Given the description of an element on the screen output the (x, y) to click on. 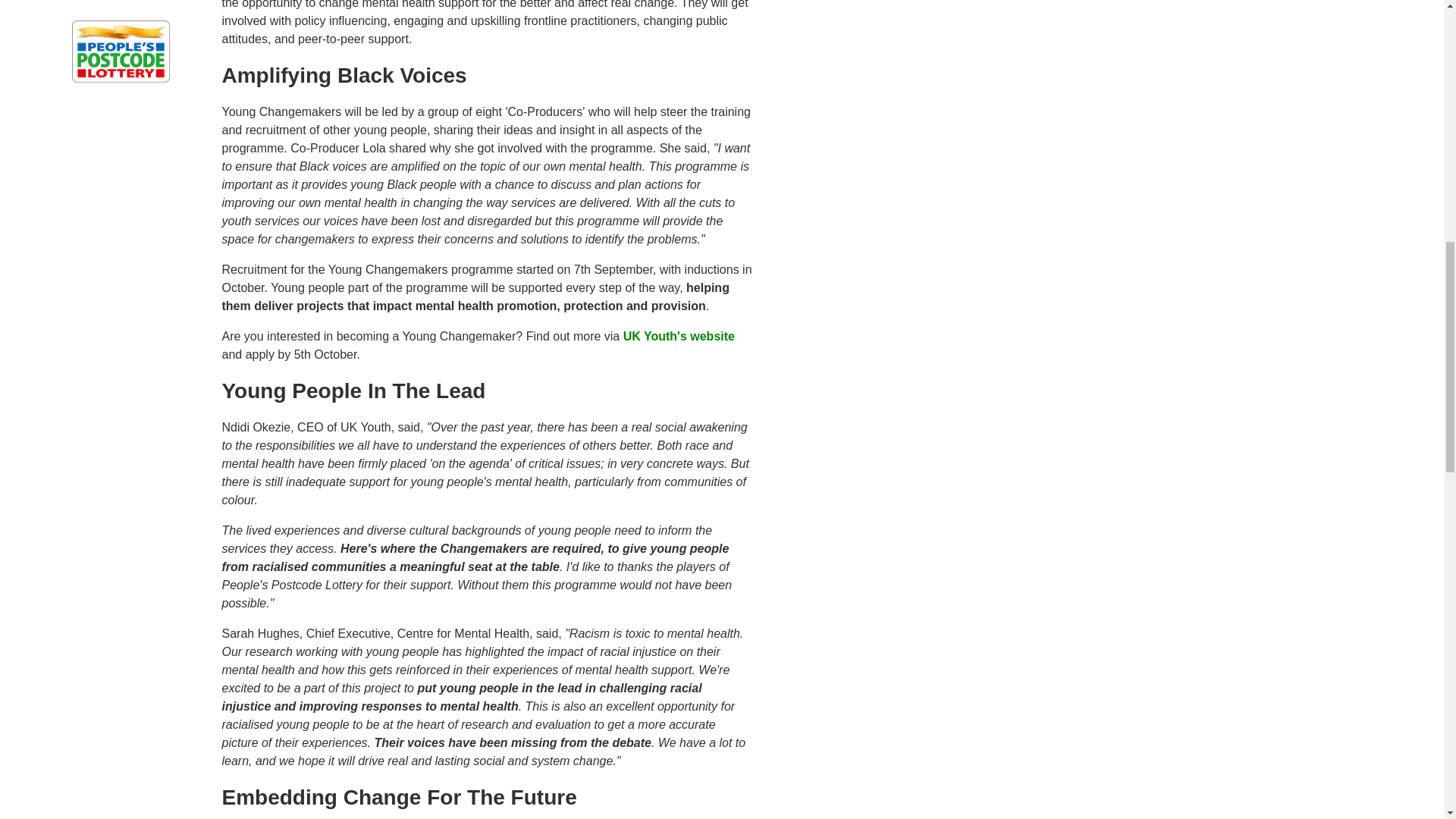
UK Youth's website (679, 336)
